Given the description of an element on the screen output the (x, y) to click on. 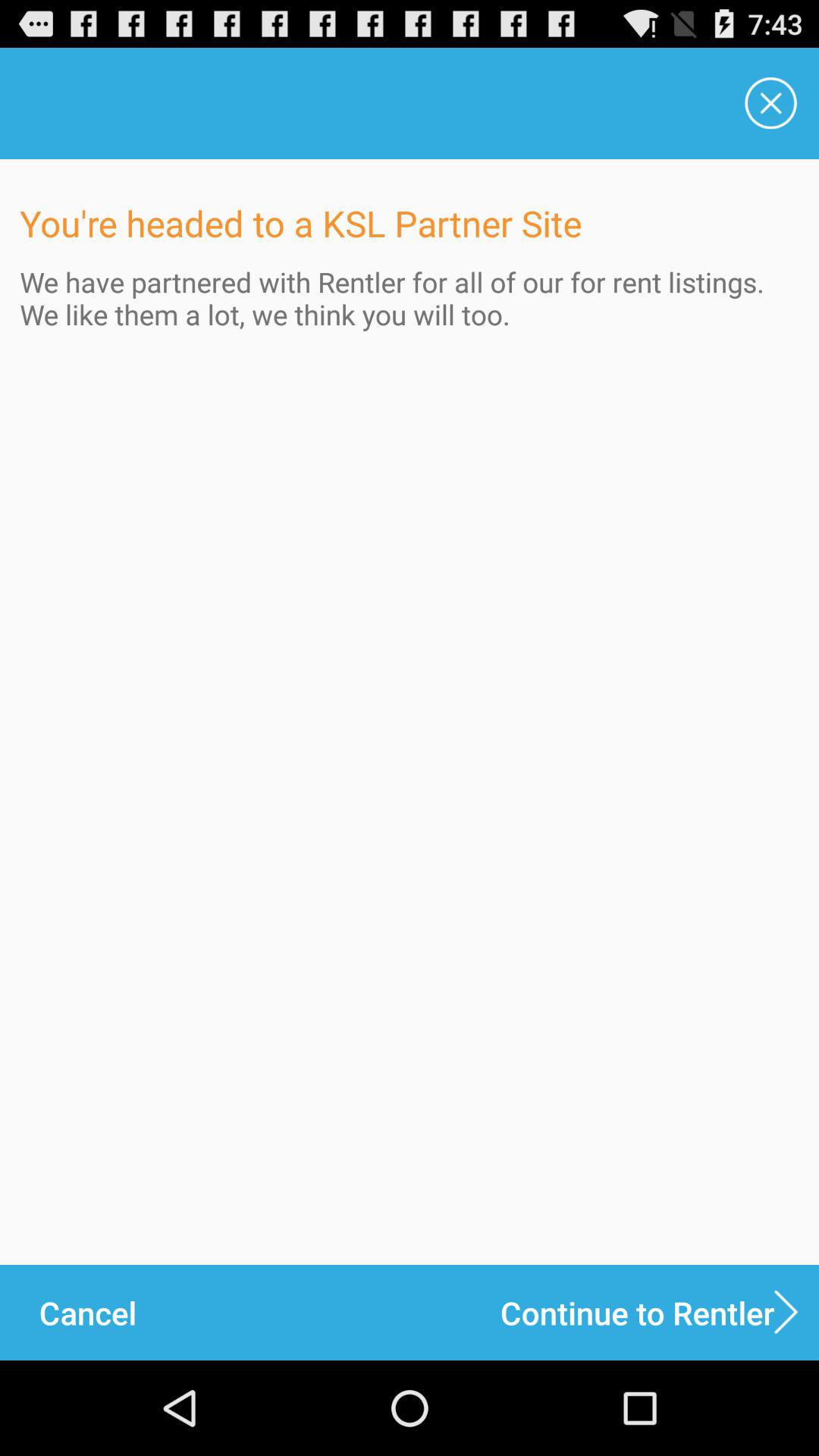
swipe to the cancel (87, 1312)
